Given the description of an element on the screen output the (x, y) to click on. 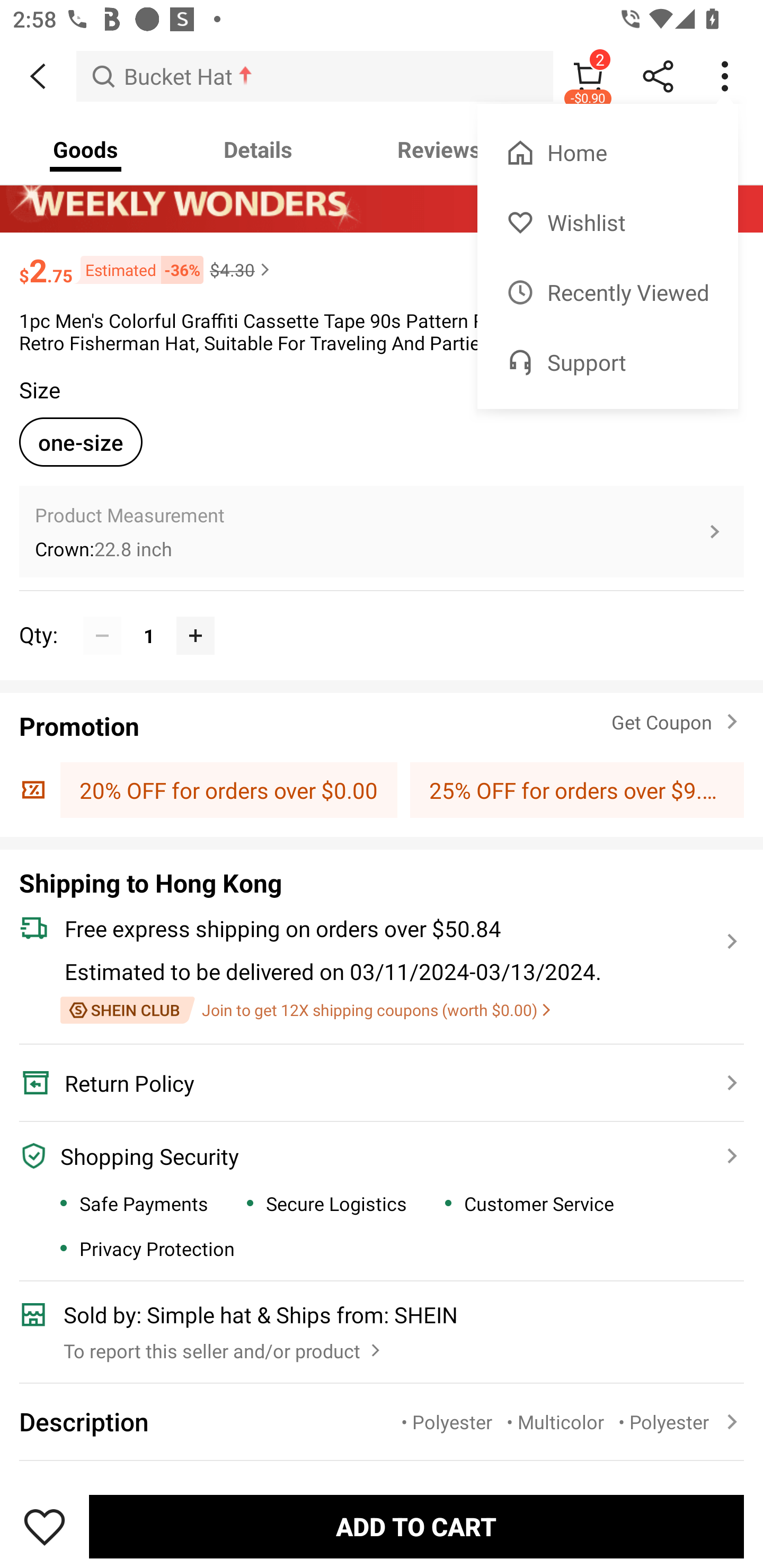
Home (607, 152)
Wishlist (607, 222)
Recently Viewed (607, 292)
Support (607, 361)
